Given the description of an element on the screen output the (x, y) to click on. 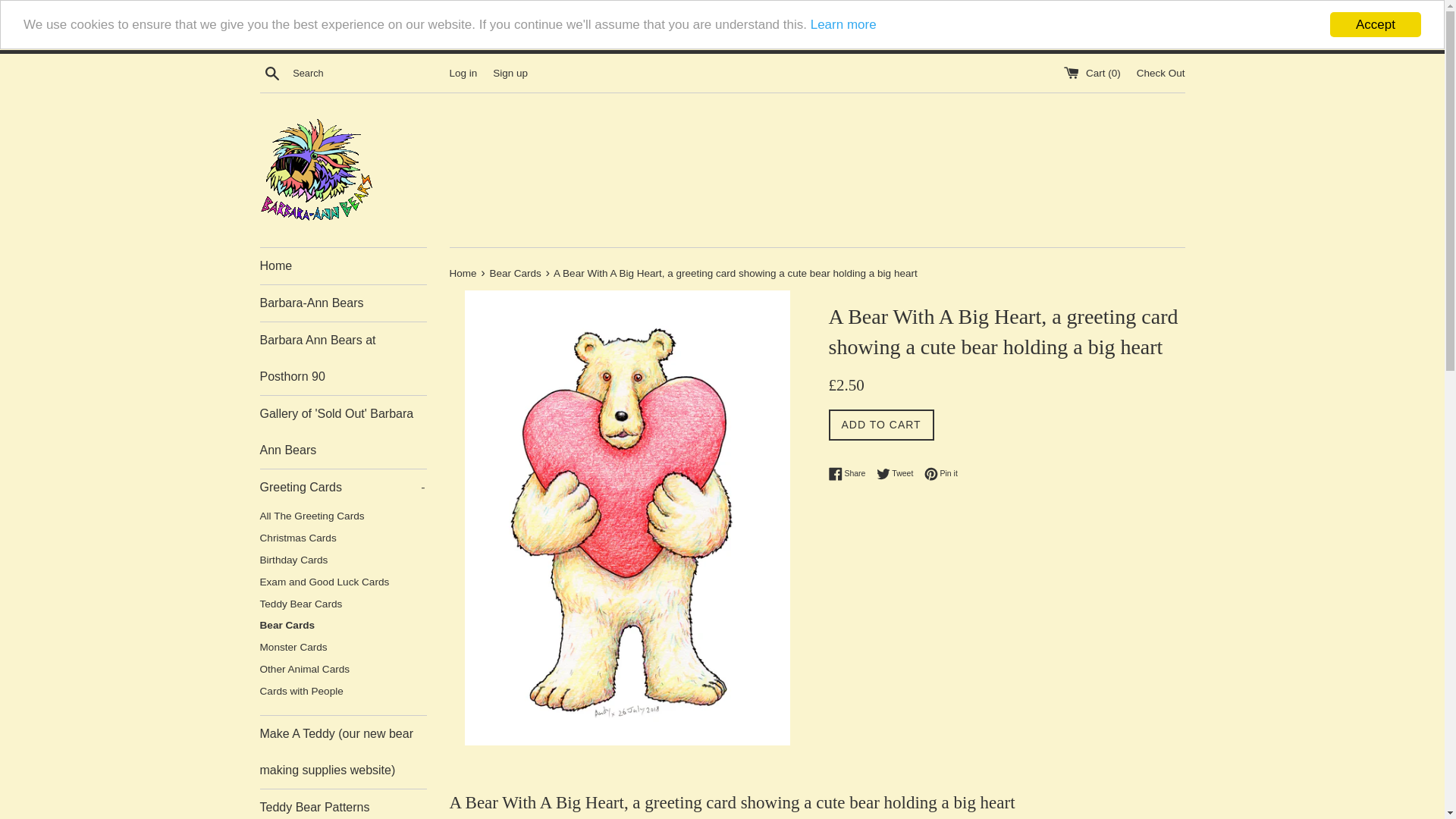
All The Greeting Cards (342, 516)
Teddy Bear Cards (342, 604)
Teddy Bear Patterns (342, 804)
Barbara Ann Bears at Posthorn 90 (342, 358)
Check Out (1161, 69)
Christmas Cards (342, 538)
Other Animal Cards (342, 669)
Monster Cards (342, 648)
Pin on Pinterest (941, 473)
Gallery of 'Sold Out' Barbara Ann Bears (342, 431)
